Given the description of an element on the screen output the (x, y) to click on. 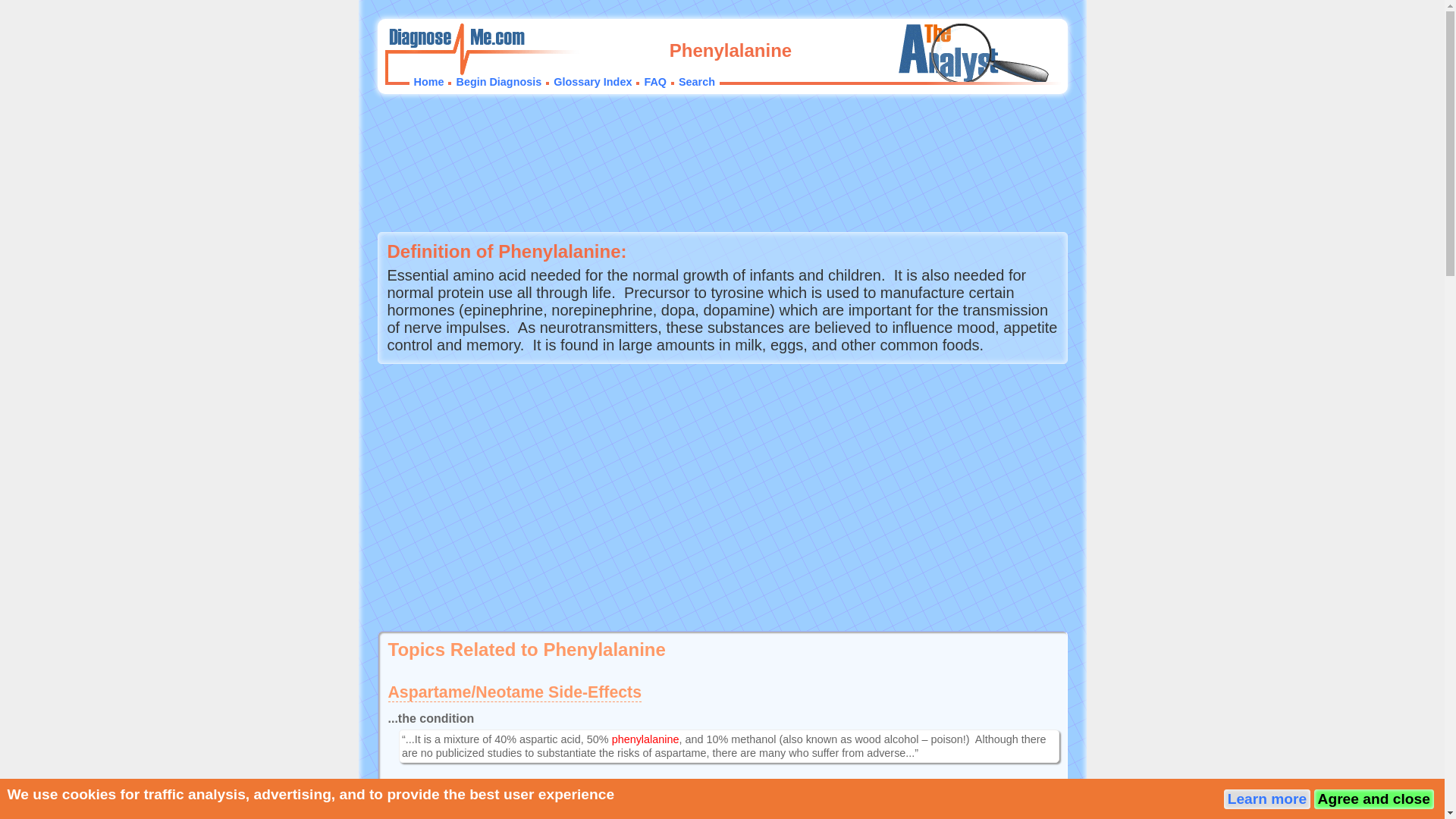
Advertisement (722, 164)
Home (428, 81)
Learn more (1267, 798)
L-Phenylalanine (545, 816)
Search (696, 81)
Depression (432, 793)
FAQ (654, 81)
Glossary Index (592, 81)
Begin Diagnosis (498, 81)
Advertisement (721, 497)
Agree and close (1373, 798)
